Given the description of an element on the screen output the (x, y) to click on. 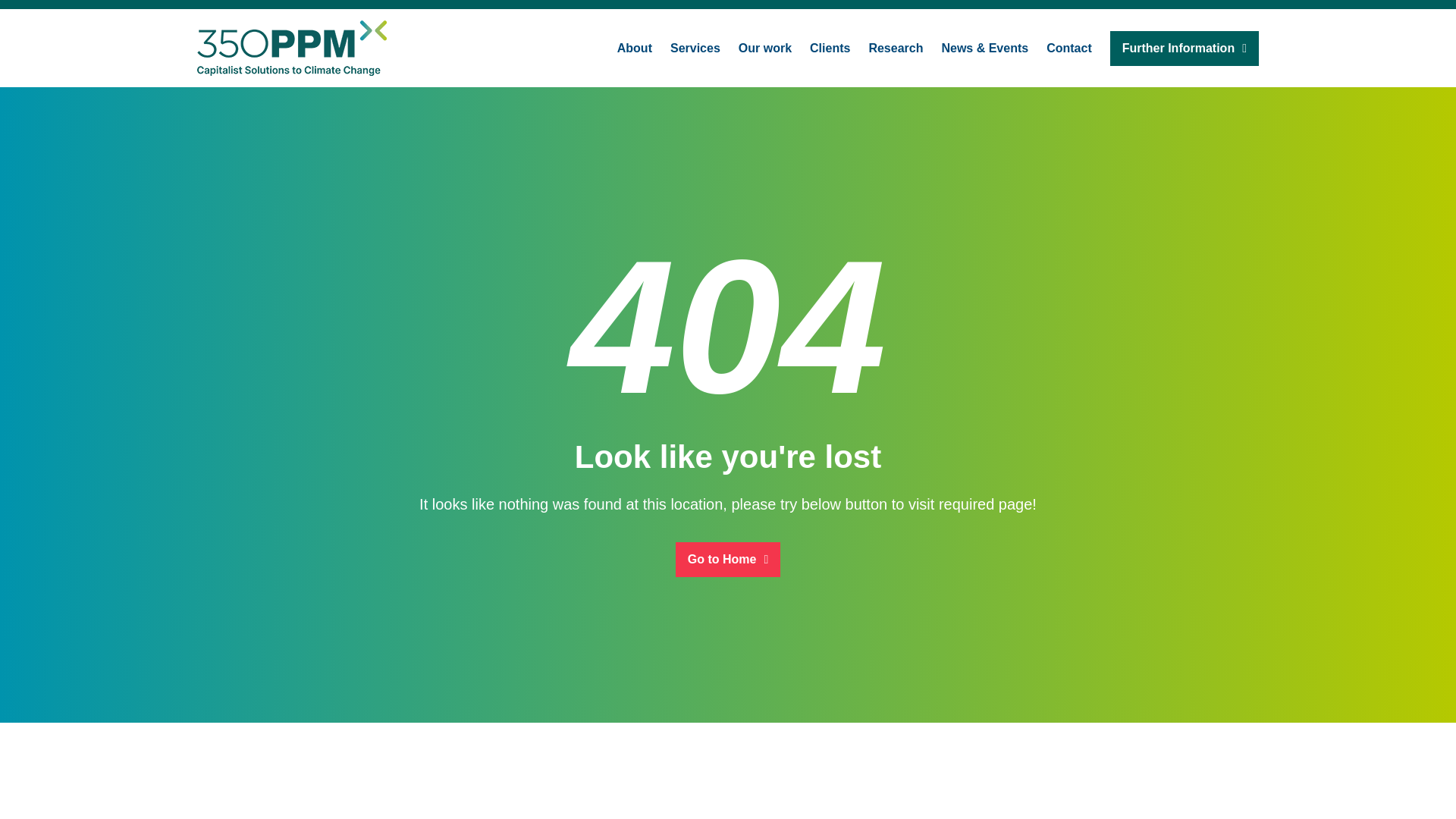
Further Information (1184, 47)
About (634, 47)
Our work (765, 47)
Services (694, 47)
Contact (1069, 47)
Clients (829, 47)
Research (895, 47)
Go to Home (727, 558)
